Given the description of an element on the screen output the (x, y) to click on. 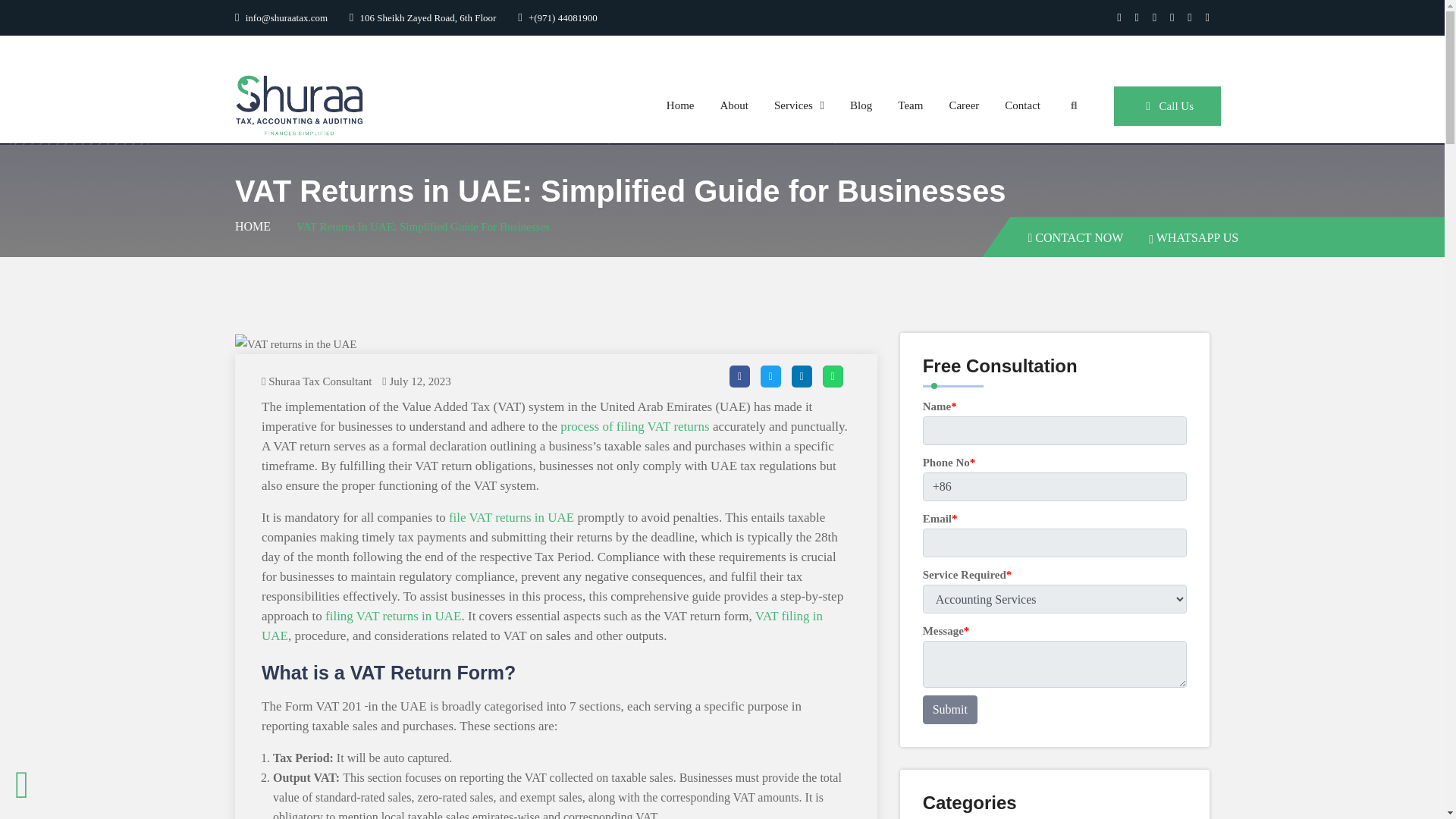
vat returns in uae (295, 343)
Services (799, 105)
Shuraa Tax Consultants and Accountants (299, 104)
Home (680, 105)
106 Sheikh Zayed Road, 6th Floor (422, 17)
About (734, 105)
